Given the description of an element on the screen output the (x, y) to click on. 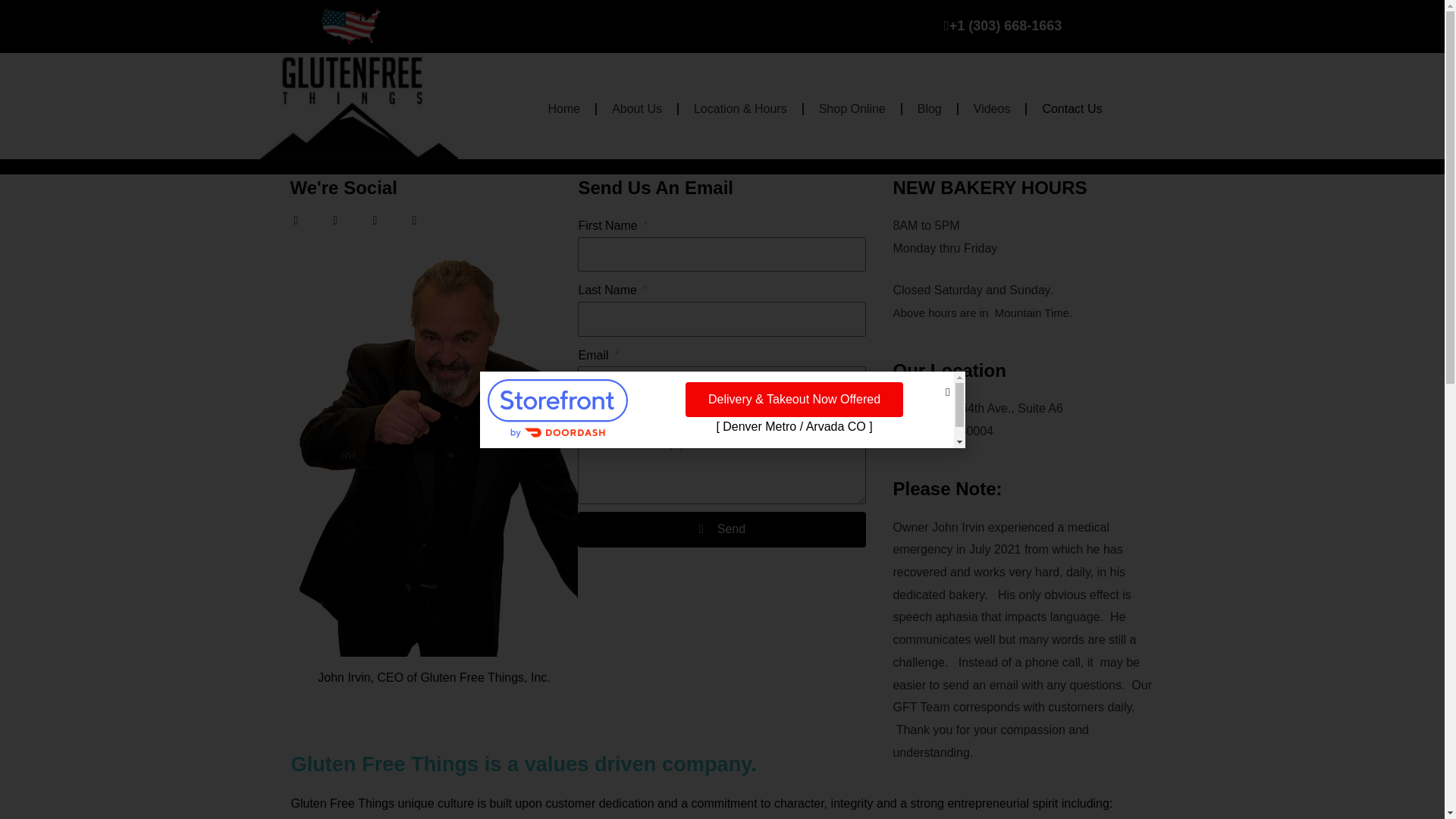
Blog (929, 108)
Dedicated Gluten Free Products (636, 108)
About Us (636, 108)
Gluten Free Things Video Gallery (992, 108)
Shop Online (852, 108)
Home (563, 108)
Contact Us (1071, 108)
Contact Our Dedicated Gluten Free Bakery (1071, 108)
Colorado Dedicated Gluten Free Bakery (563, 108)
Videos (992, 108)
